Given the description of an element on the screen output the (x, y) to click on. 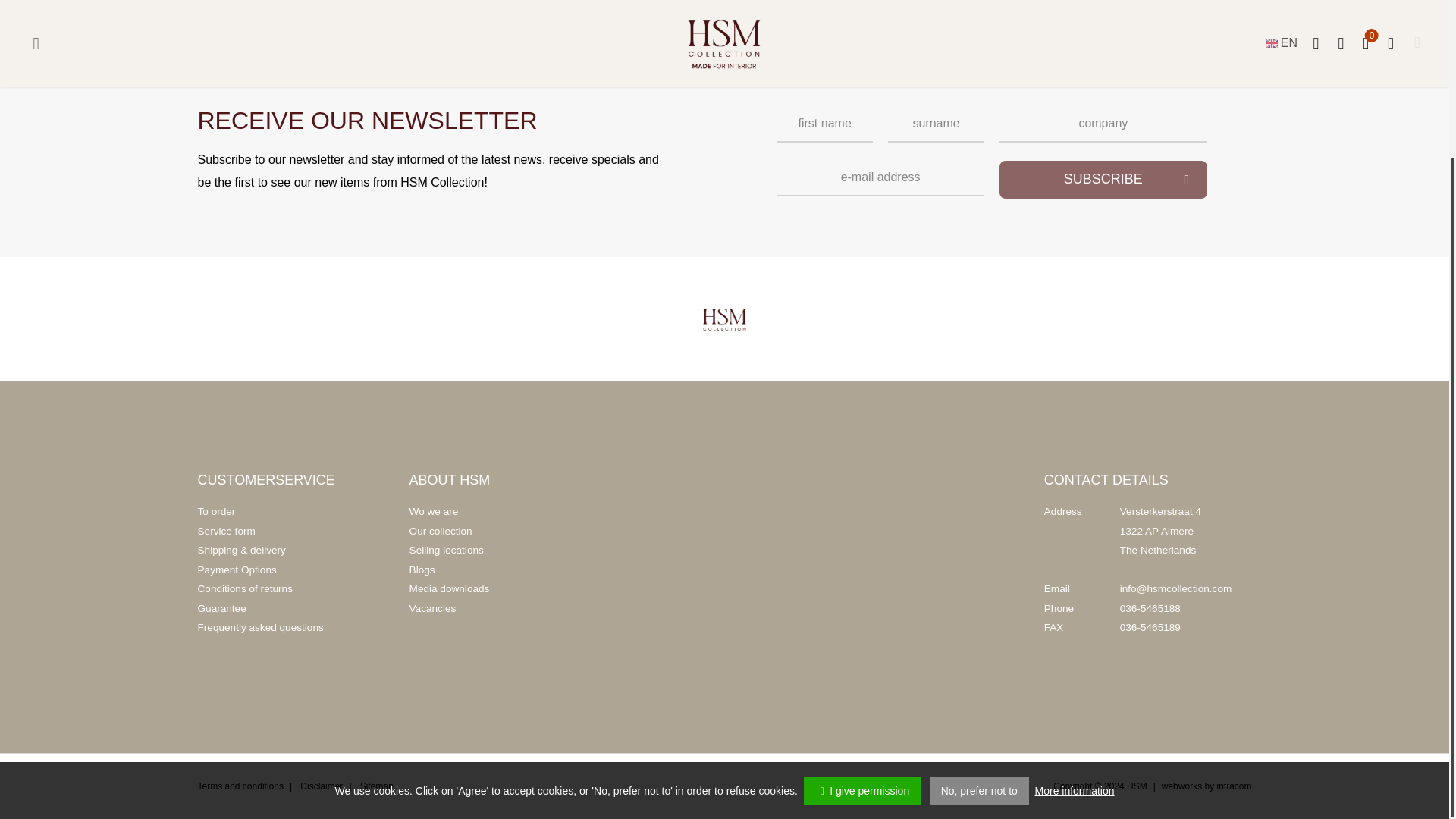
More information (1075, 598)
I give permission (861, 597)
No, prefer not to (979, 597)
